Given the description of an element on the screen output the (x, y) to click on. 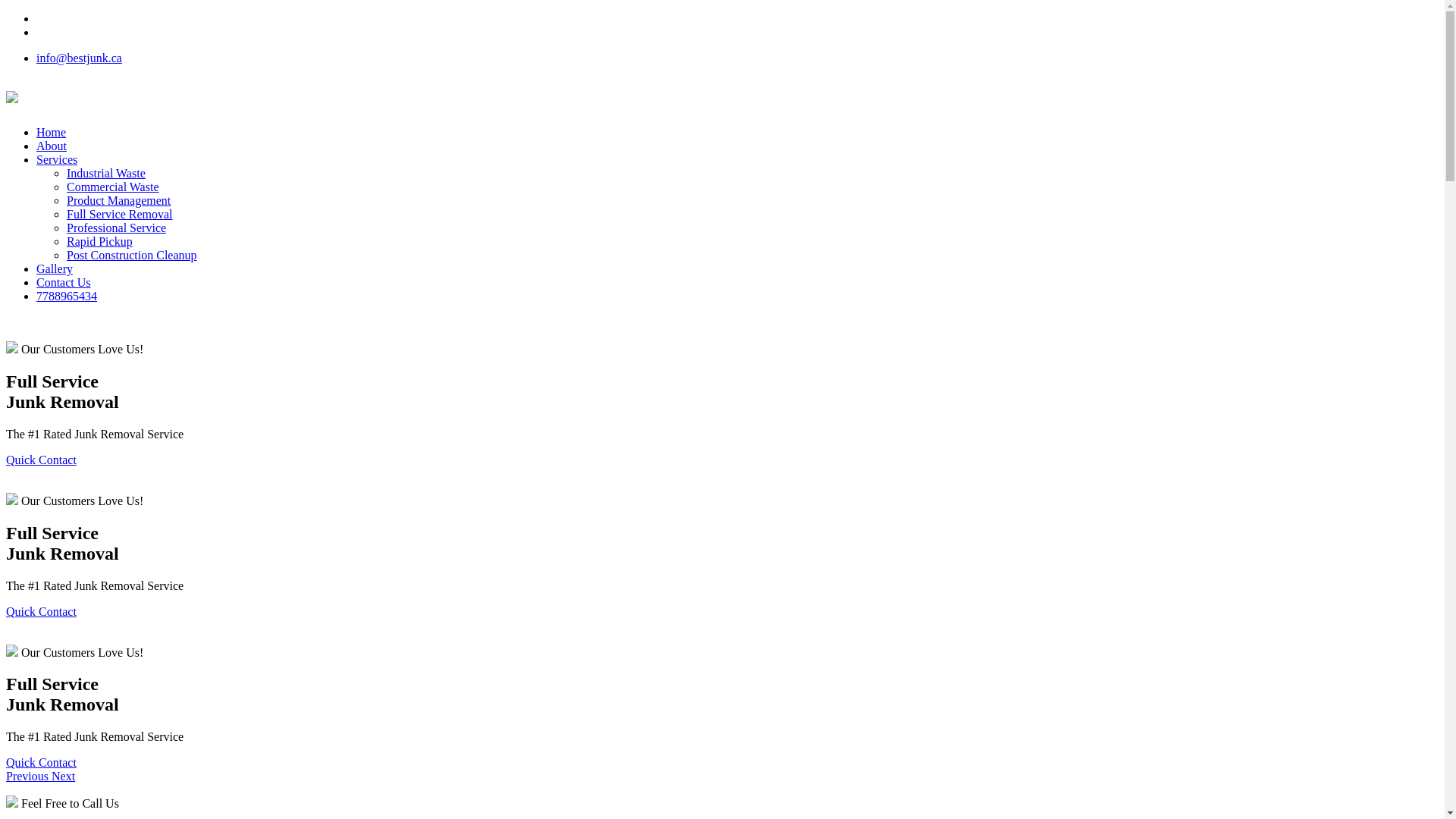
Services Element type: text (56, 159)
About Element type: text (51, 145)
Product Management Element type: text (118, 200)
Gallery Element type: text (54, 268)
Contact Us Element type: text (63, 282)
Next Element type: text (63, 775)
Home Element type: text (50, 131)
Commercial Waste Element type: text (112, 186)
Professional Service Element type: text (116, 227)
Previous Element type: text (28, 775)
Quick Contact Element type: text (41, 762)
Rapid Pickup Element type: text (99, 241)
Post Construction Cleanup Element type: text (131, 254)
7788965434 Element type: text (66, 295)
Full Service Removal Element type: text (119, 213)
Quick Contact Element type: text (41, 611)
Quick Contact Element type: text (41, 459)
Industrial Waste Element type: text (105, 172)
info@bestjunk.ca Element type: text (79, 57)
